Given the description of an element on the screen output the (x, y) to click on. 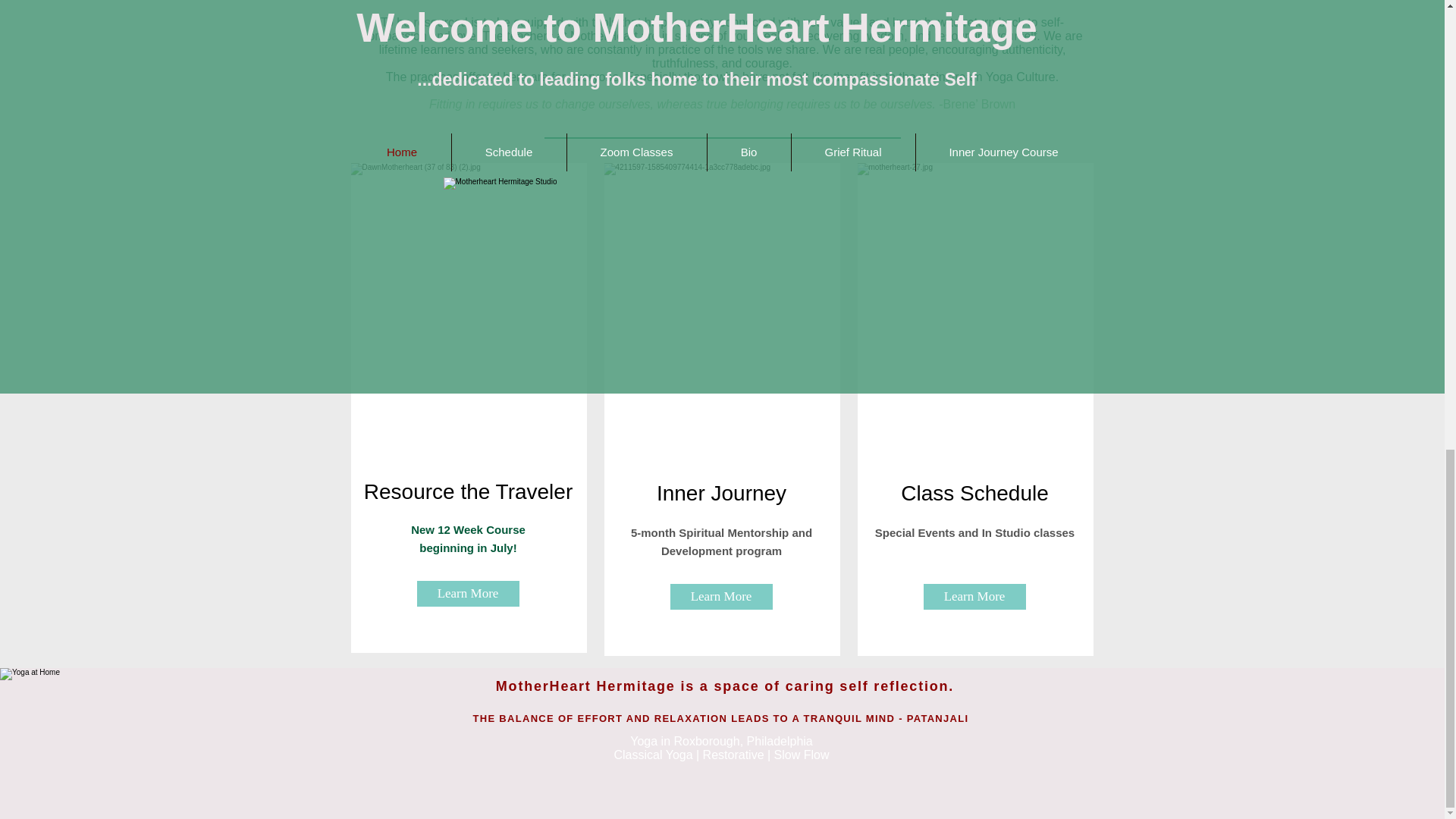
Learn More (721, 596)
Learn More (467, 593)
Learn More (974, 596)
